Given the description of an element on the screen output the (x, y) to click on. 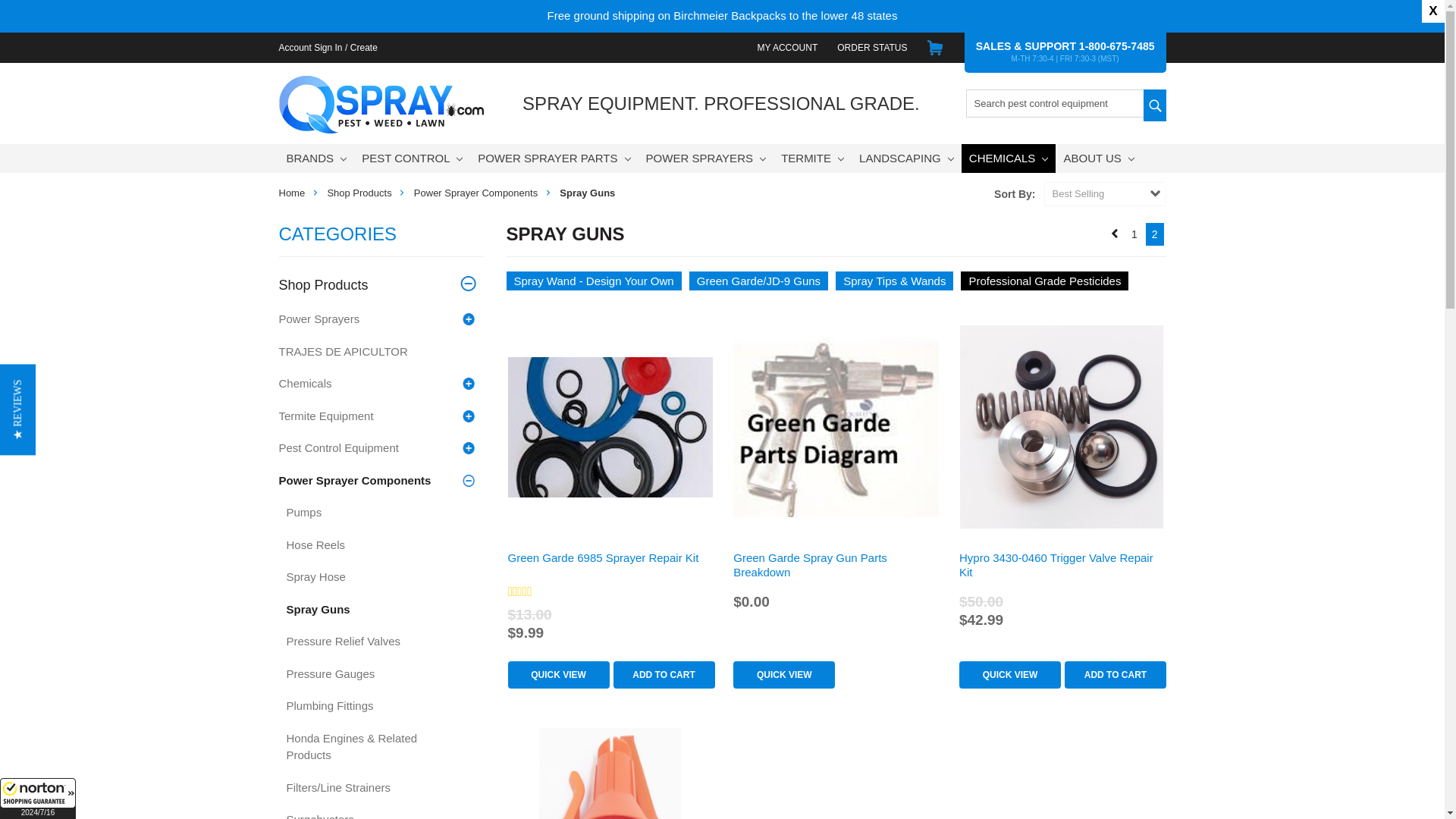
Account Sign In (309, 46)
Create (363, 46)
Green Garde Spray Gun Parts Breakdown (836, 427)
BRANDS (317, 158)
Hypro 3430-0460 Trigger Valve Repair Kit (1061, 426)
Hypro 3430-0461 Gun Repair Kit (609, 773)
MY ACCOUNT (787, 46)
1-800-675-7485 (1116, 45)
PEST CONTROL (411, 158)
Unused iFrame 1 (37, 798)
Green Garde 6985 Sprayer Repair Kit (610, 426)
ORDER STATUS (871, 46)
Chemicals (1044, 280)
QSpray.com (381, 104)
Spray Wand - Design Your Own (593, 280)
